Given the description of an element on the screen output the (x, y) to click on. 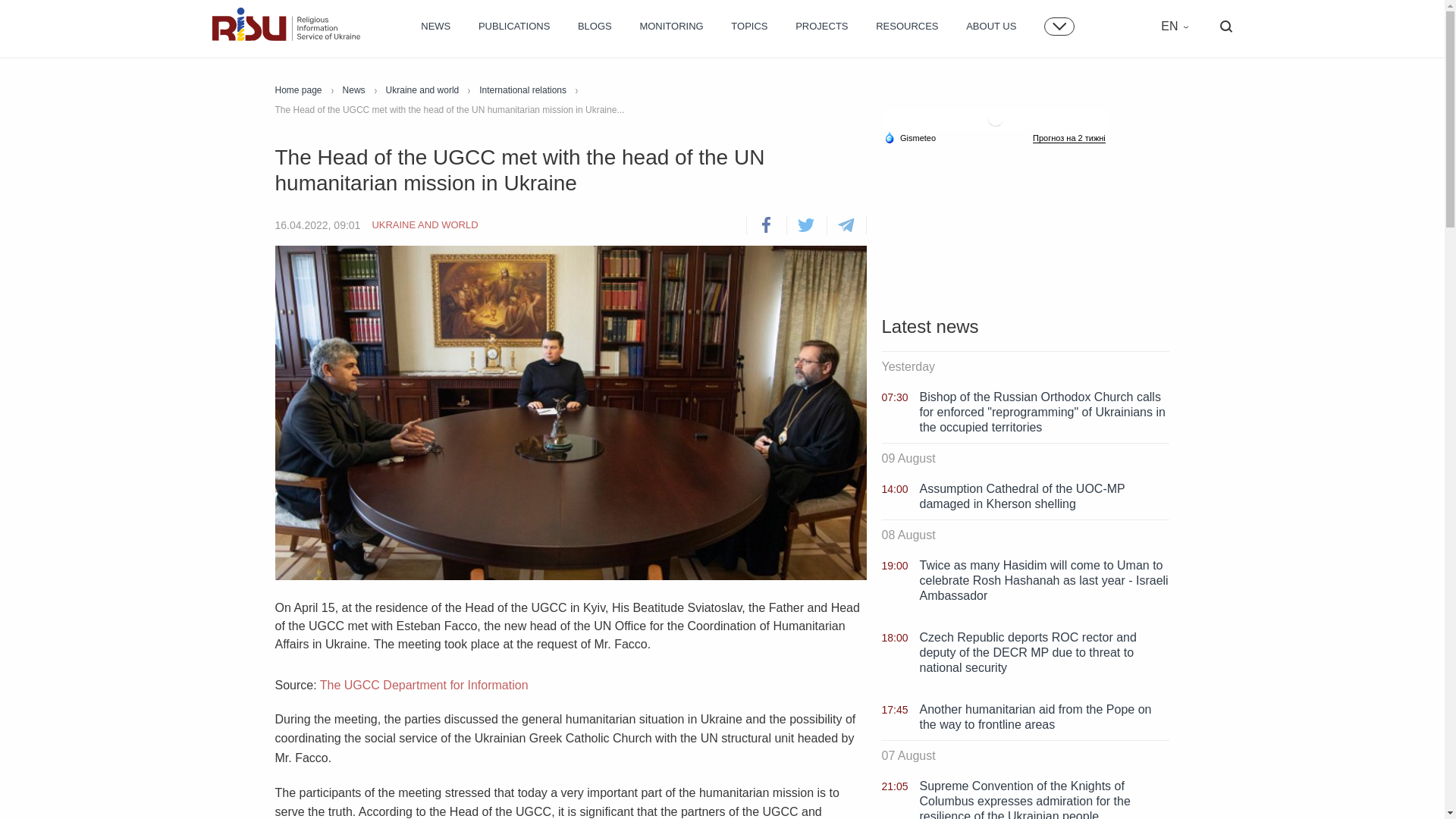
RESOURCES (906, 26)
BLOGS (594, 26)
PROJECTS (820, 26)
PUBLICATIONS (514, 26)
ABOUT US (991, 26)
TOPICS (748, 26)
NEWS (434, 26)
MONITORING (671, 26)
